Given the description of an element on the screen output the (x, y) to click on. 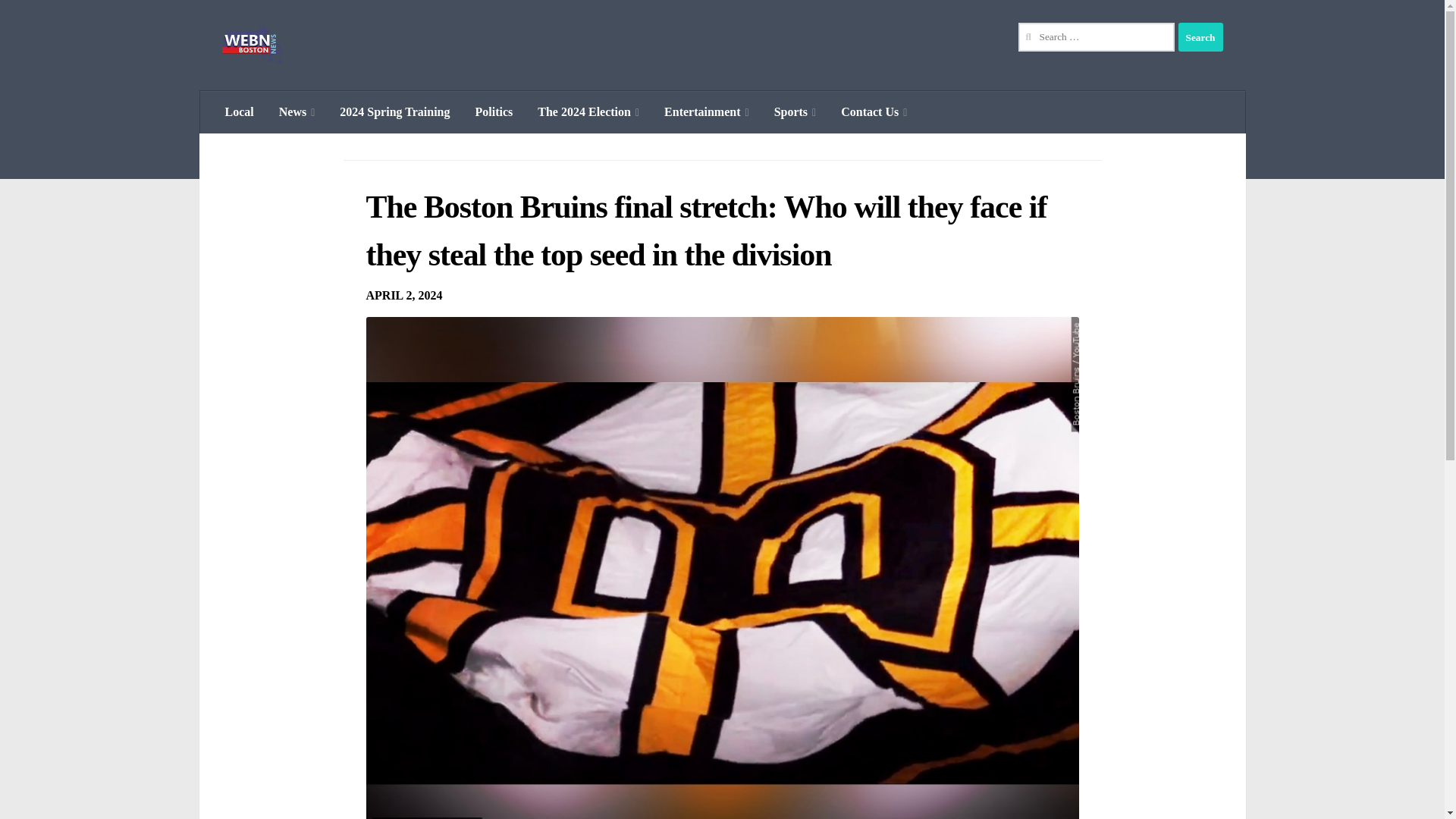
2024 Spring Training (394, 112)
Politics (494, 112)
The 2024 Election (588, 112)
News (296, 112)
Search (1200, 36)
Search (1200, 36)
Skip to content (59, 20)
Search (1200, 36)
Local (238, 112)
